Given the description of an element on the screen output the (x, y) to click on. 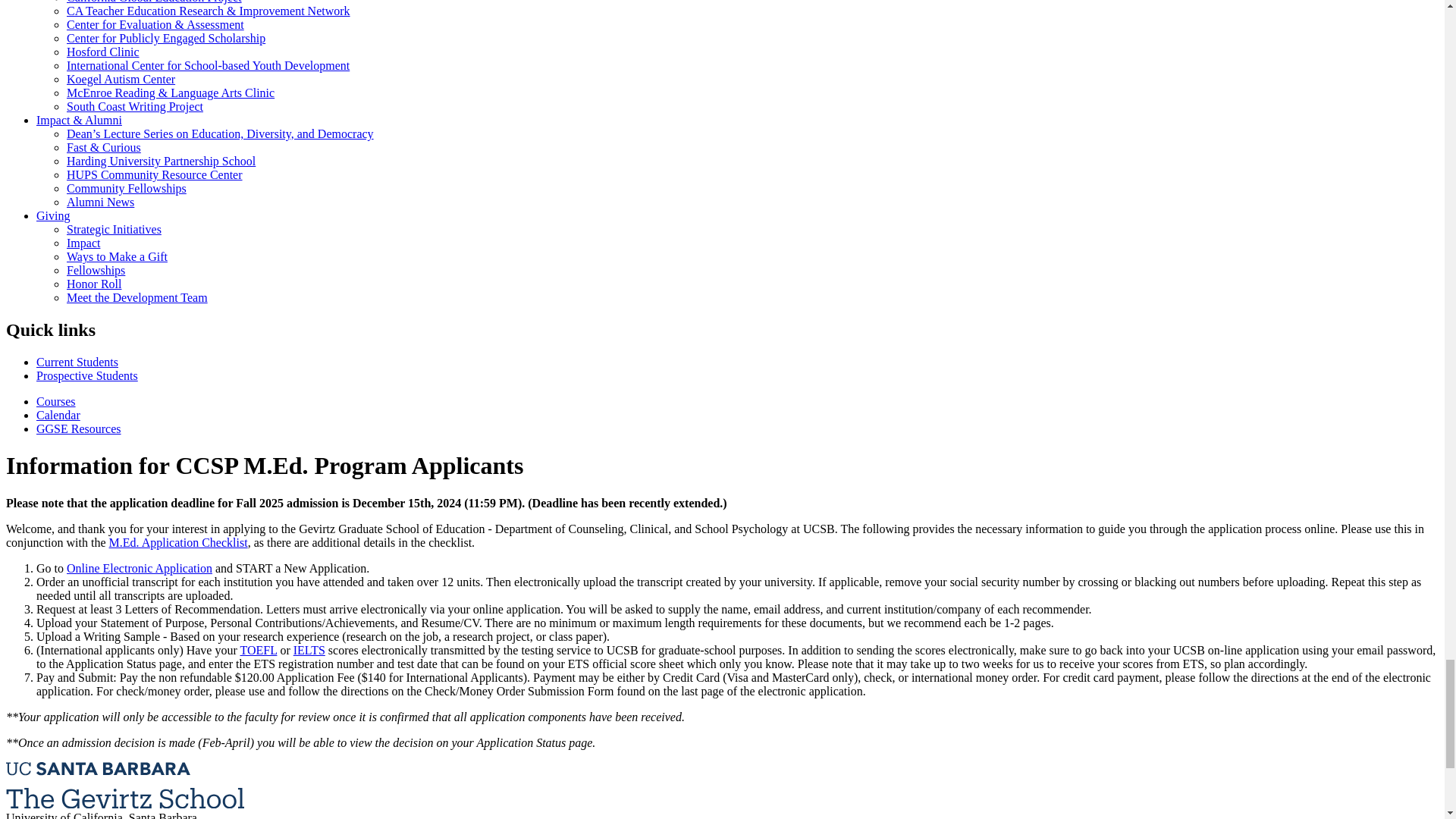
California Global Education Project (153, 2)
Center for Publicly Engaged Scholarship (165, 38)
International Center for School-based Youth Development (207, 65)
Hosford Clinic (102, 51)
Koegel Autism Center (120, 78)
California Global Education Project (153, 2)
